Given the description of an element on the screen output the (x, y) to click on. 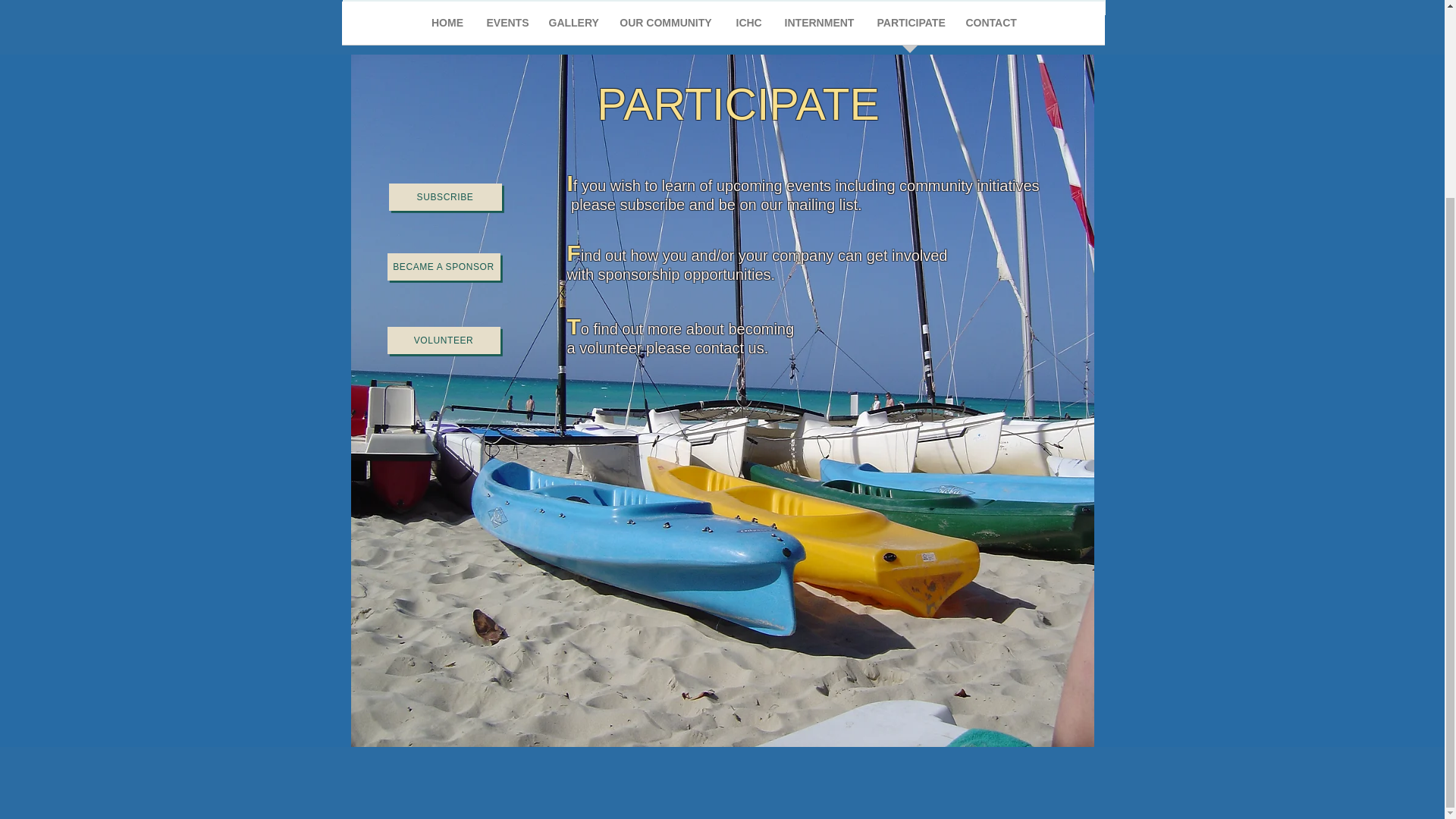
PARTICIPATE (910, 27)
HOME (448, 27)
EVENTS (505, 27)
OUR COMMUNITY (665, 27)
INTERNMENT (819, 27)
GALLERY (572, 27)
ICHC (749, 27)
